Given the description of an element on the screen output the (x, y) to click on. 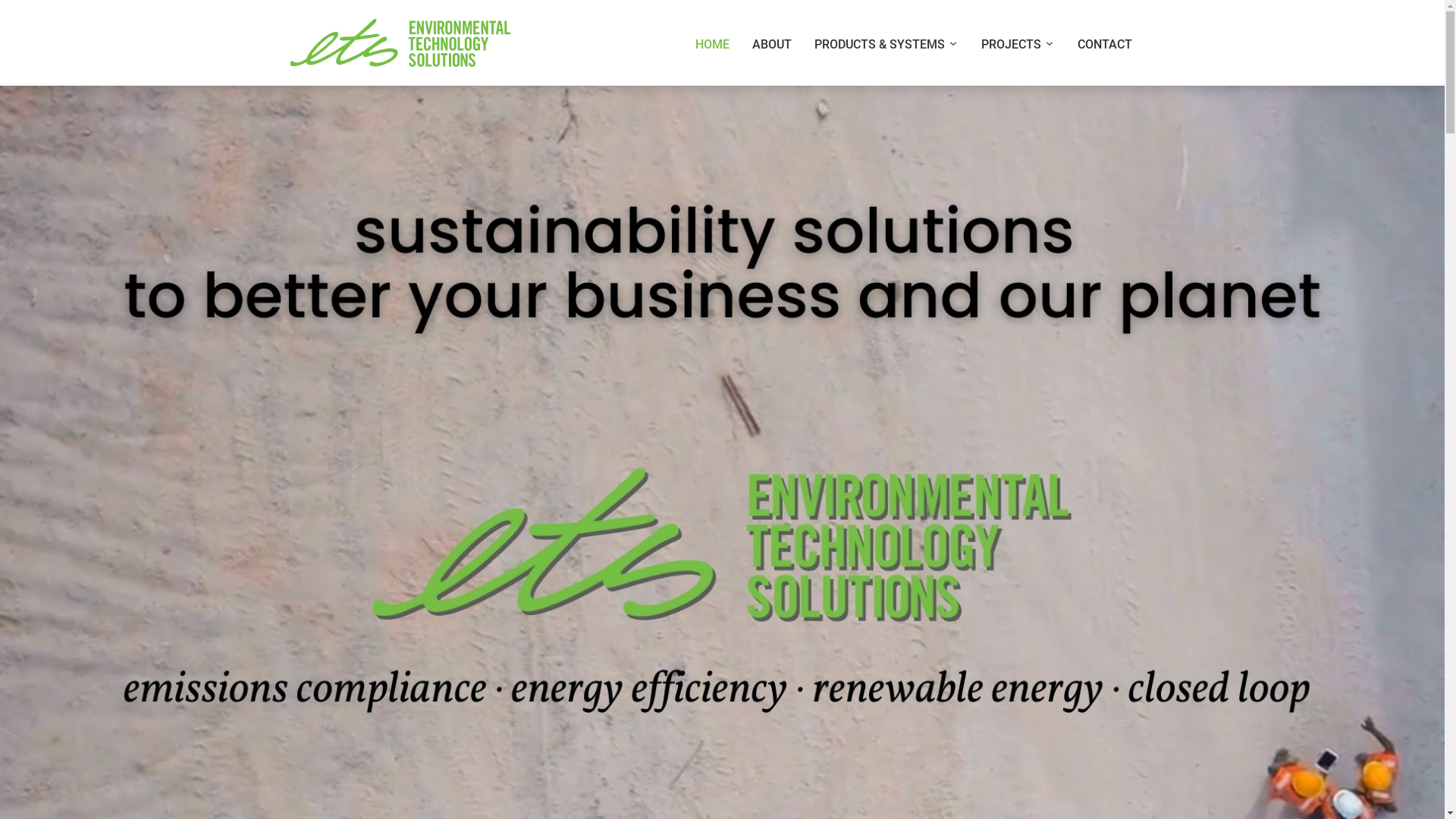
CONTACT Element type: text (1104, 44)
PRODUCTS & SYSTEMS Element type: text (885, 44)
ABOUT Element type: text (771, 44)
HOME Element type: text (712, 44)
PROJECTS Element type: text (1017, 44)
